Given the description of an element on the screen output the (x, y) to click on. 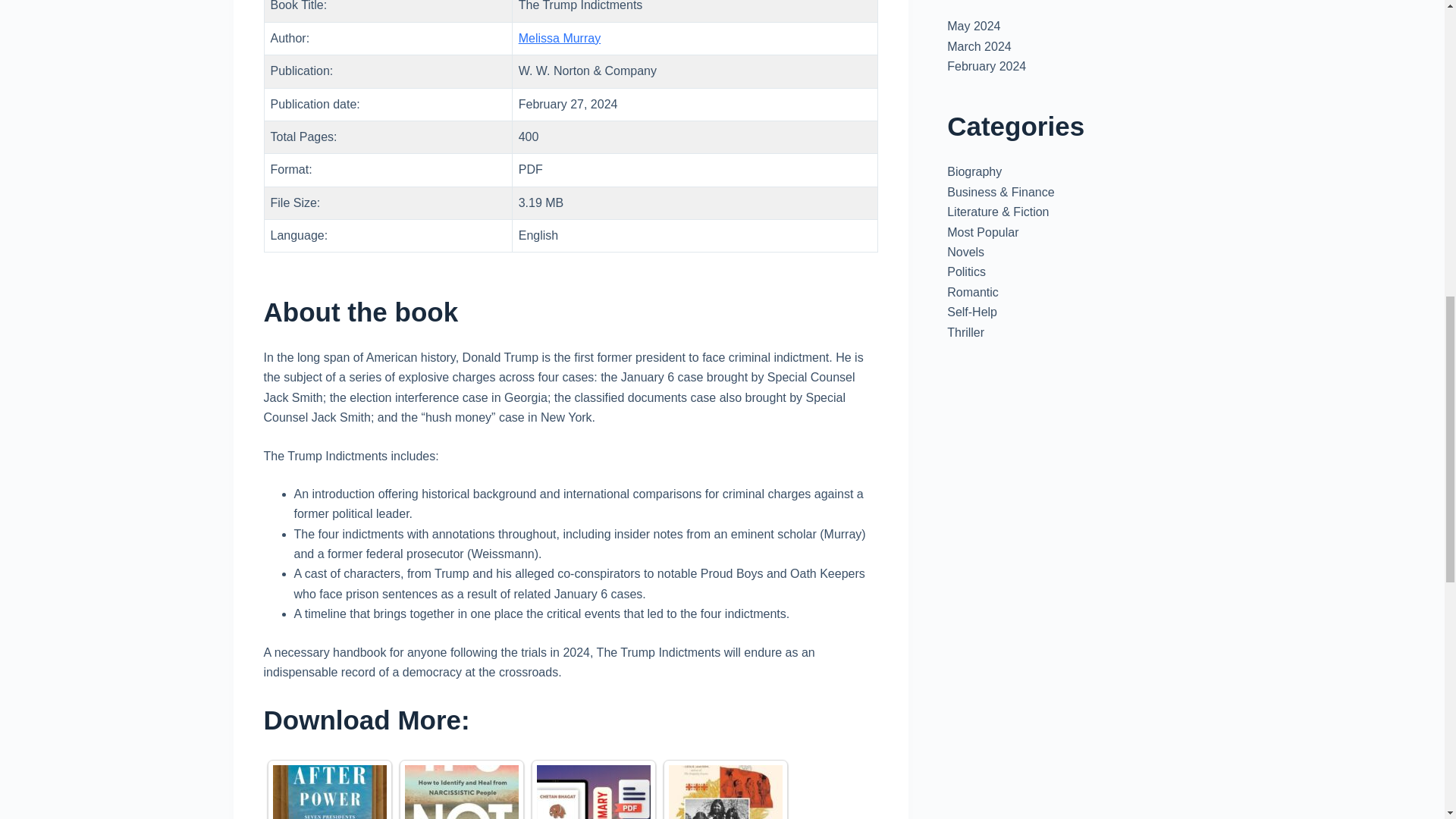
11 Rules For Life by Chetan Bhagat PDF (593, 791)
It's Not You by Ramani Durvasula PhD PDF (461, 791)
11 Rules For Life by Chetan Bhagat PDF (593, 791)
Melissa Murray (558, 38)
Life After Power by Jared Cohen PDF (330, 791)
Whiskey Tender by Deborah Taffa PDF (725, 791)
It's Not You by Ramani Durvasula PhD PDF (461, 791)
